Given the description of an element on the screen output the (x, y) to click on. 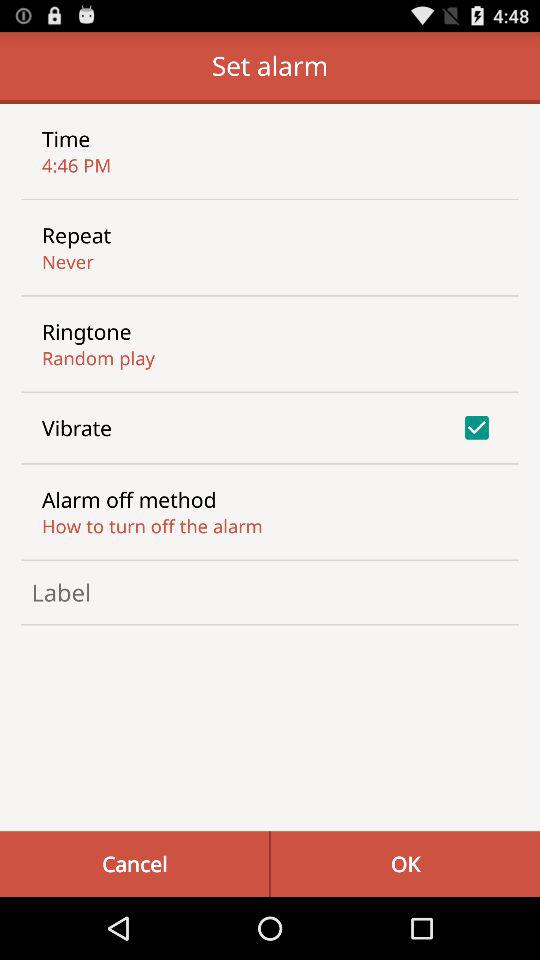
flip to the time item (66, 138)
